Given the description of an element on the screen output the (x, y) to click on. 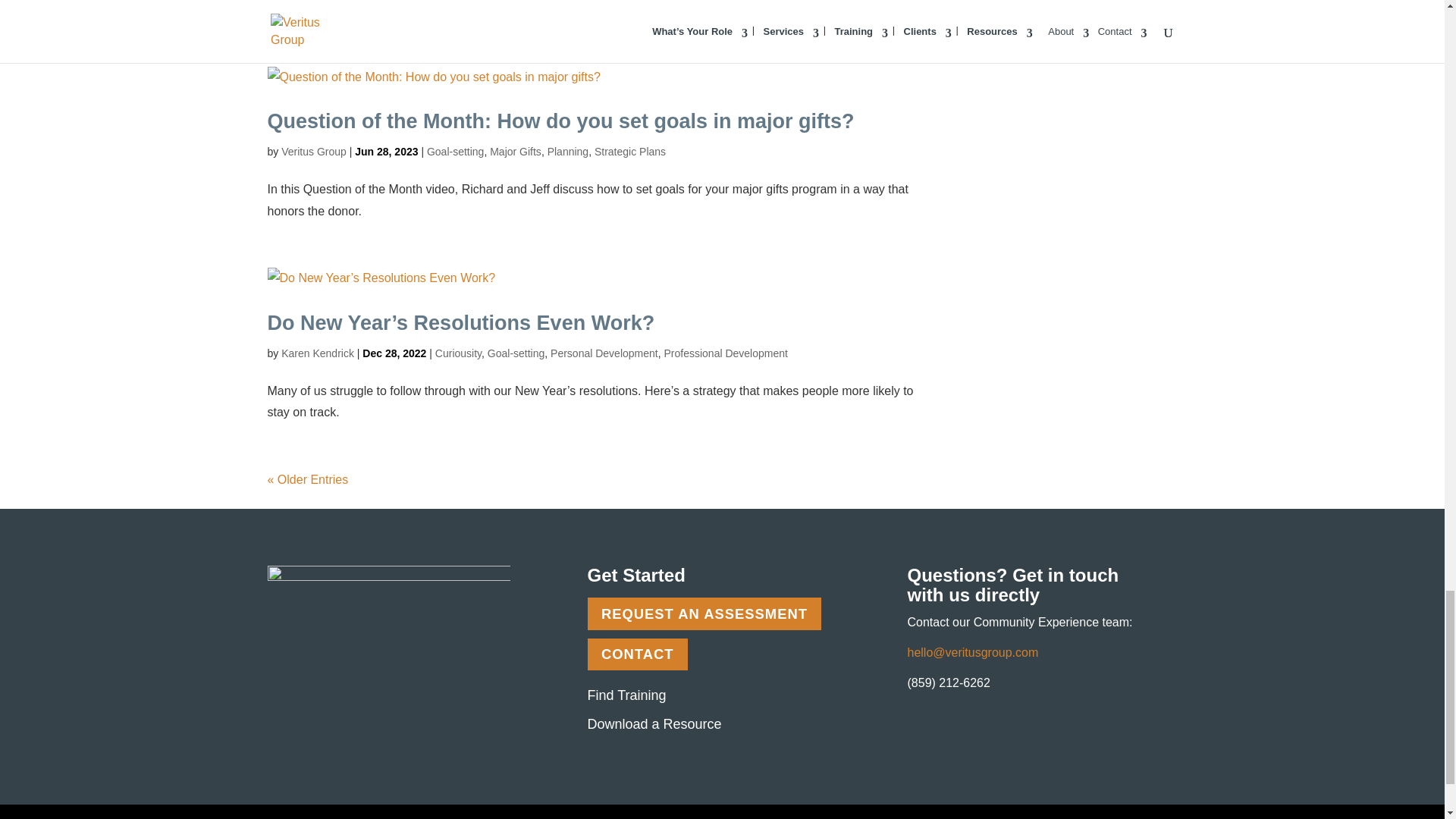
veritus-group-footer-logo (387, 601)
Posts by Karen Kendrick (317, 353)
Posts by Veritus Group (313, 151)
